Given the description of an element on the screen output the (x, y) to click on. 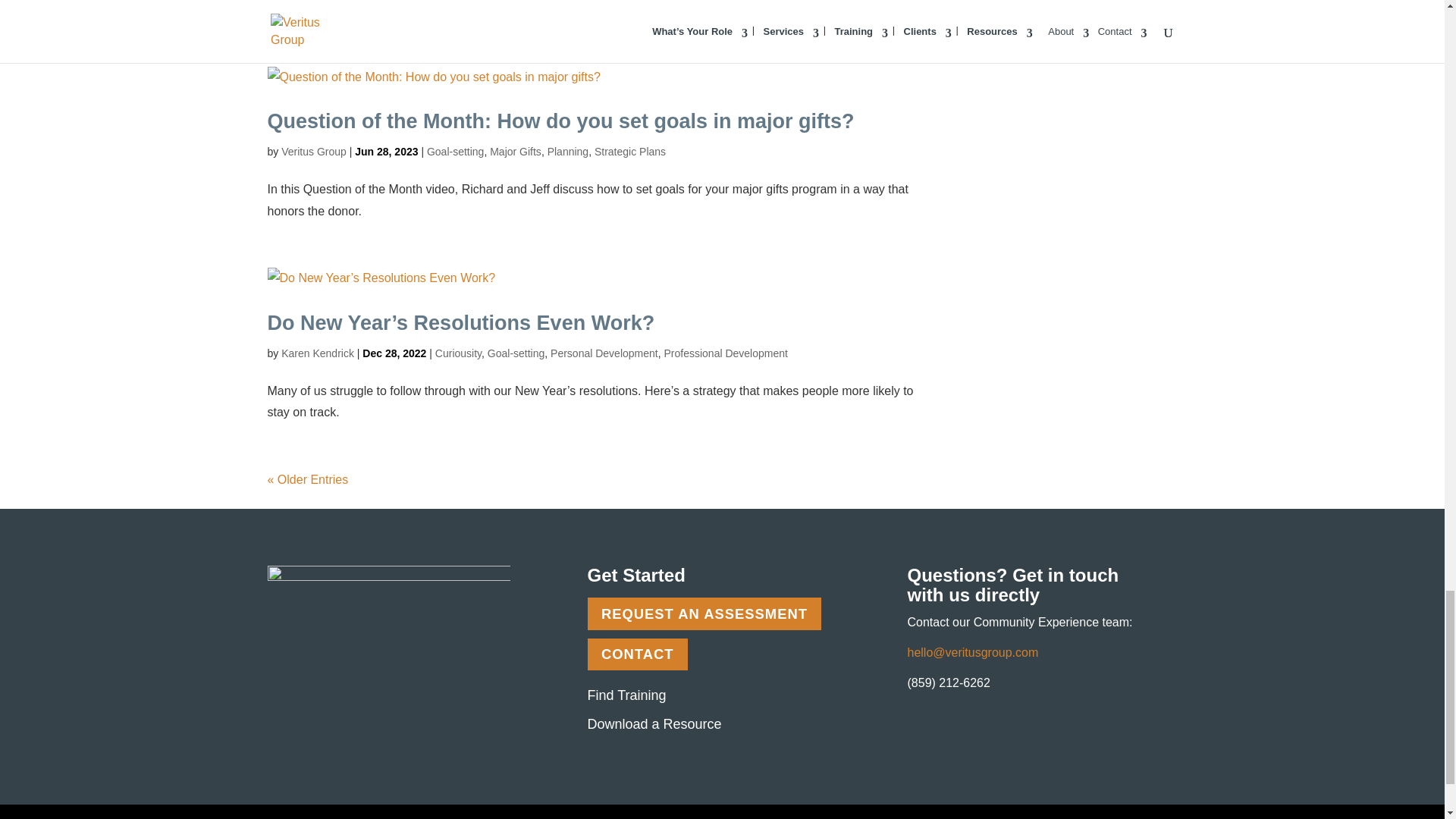
veritus-group-footer-logo (387, 601)
Posts by Karen Kendrick (317, 353)
Posts by Veritus Group (313, 151)
